Given the description of an element on the screen output the (x, y) to click on. 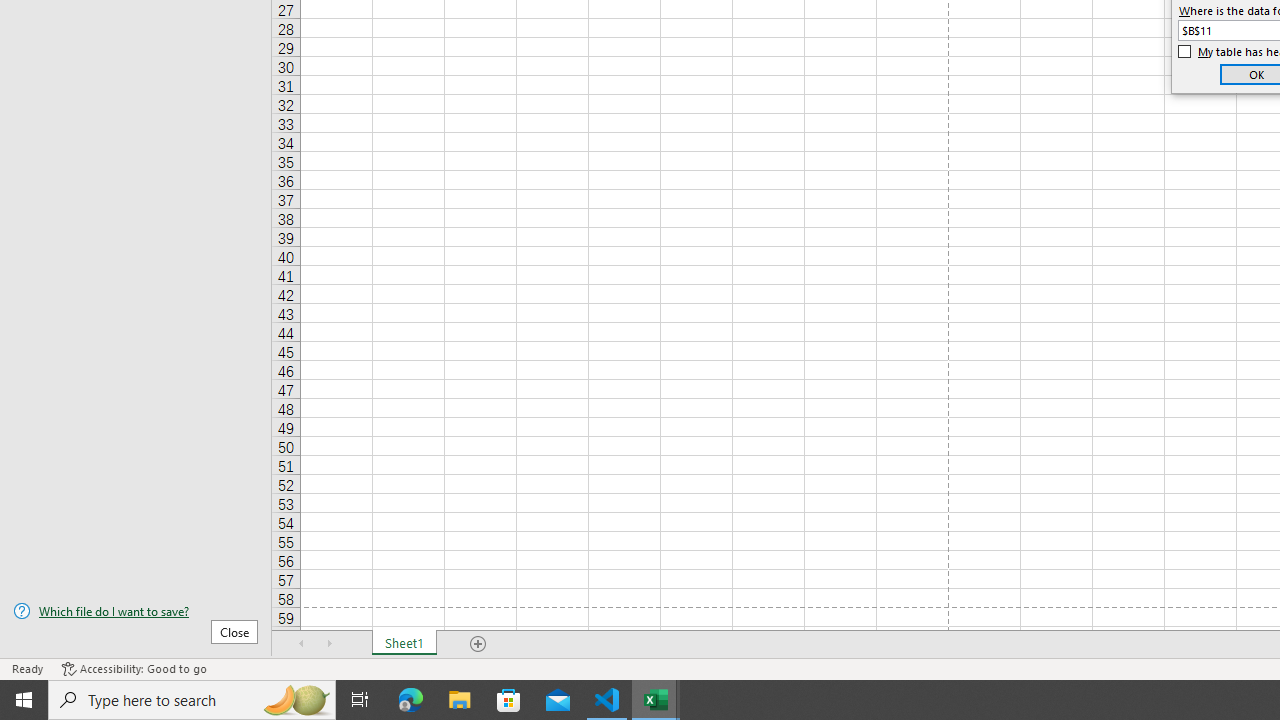
Which file do I want to save? (136, 611)
Scroll Right (330, 644)
Scroll Left (302, 644)
Sheet1 (404, 644)
Accessibility Checker Accessibility: Good to go (134, 668)
Add Sheet (478, 644)
